Given the description of an element on the screen output the (x, y) to click on. 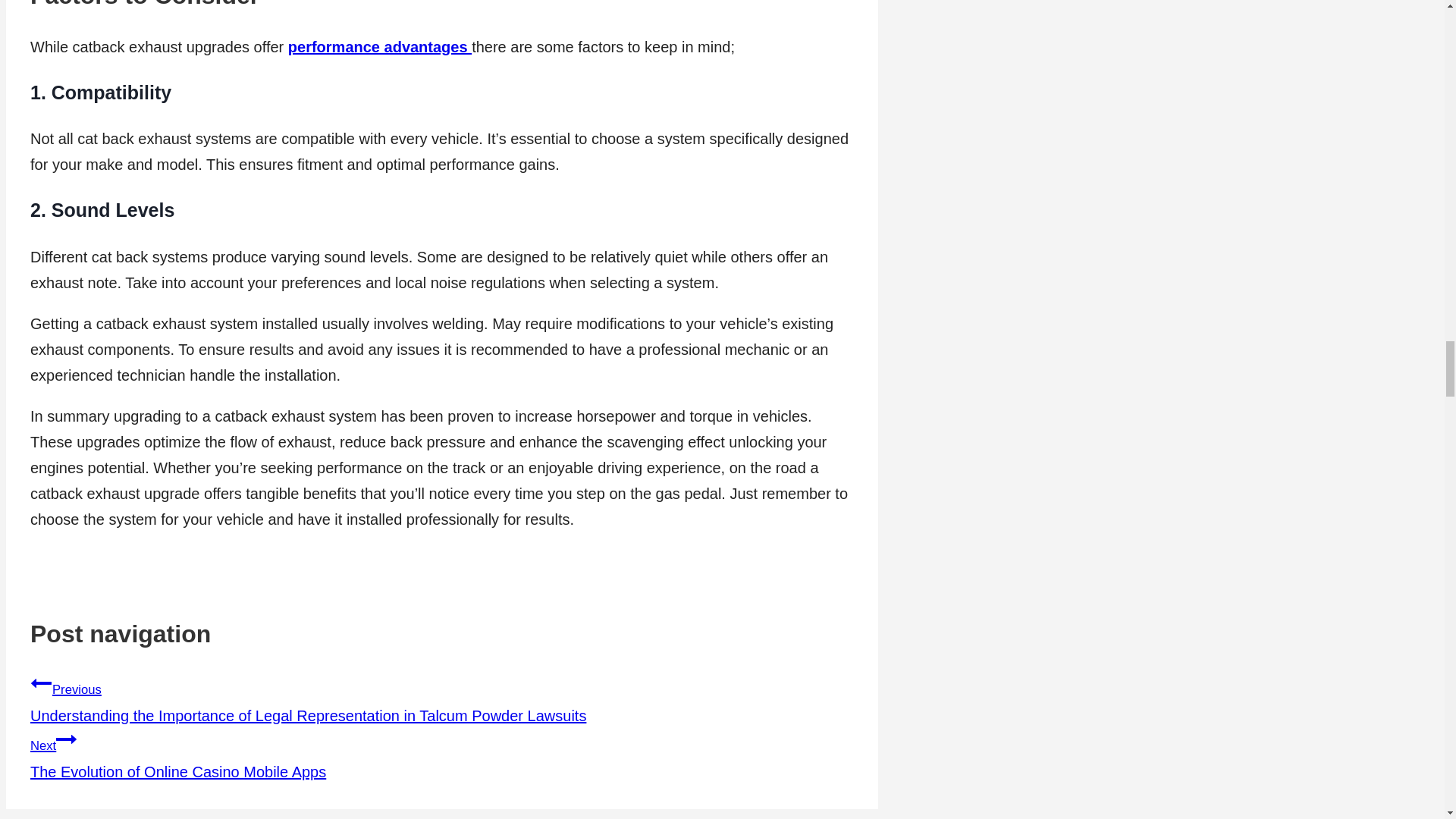
Previous (41, 682)
Continue (66, 739)
